Given the description of an element on the screen output the (x, y) to click on. 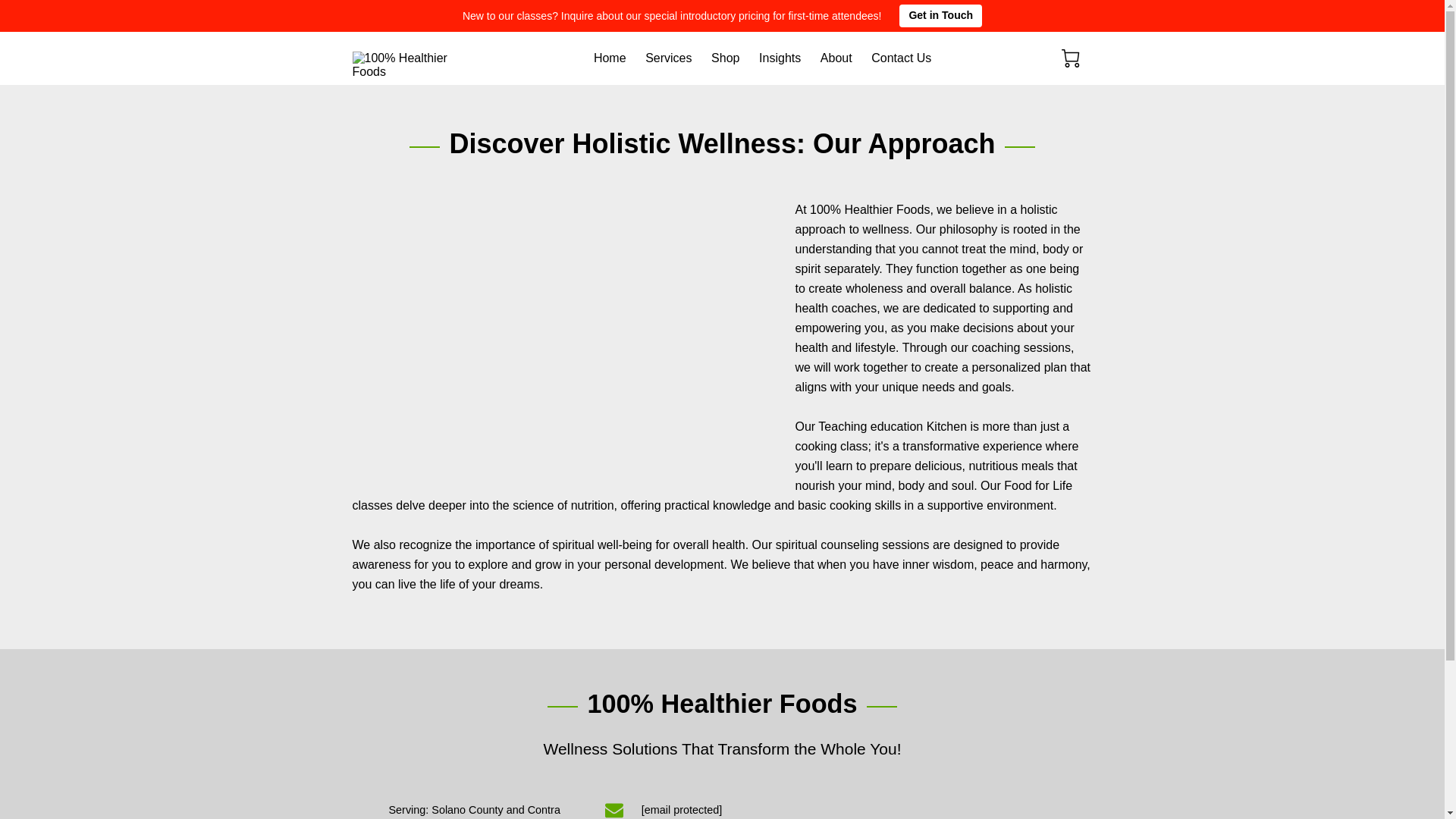
Get in Touch (940, 15)
Insights (779, 58)
0 (1070, 58)
Home (610, 58)
About (836, 58)
Shop (725, 58)
Contact Us (900, 58)
Services (668, 58)
